Given the description of an element on the screen output the (x, y) to click on. 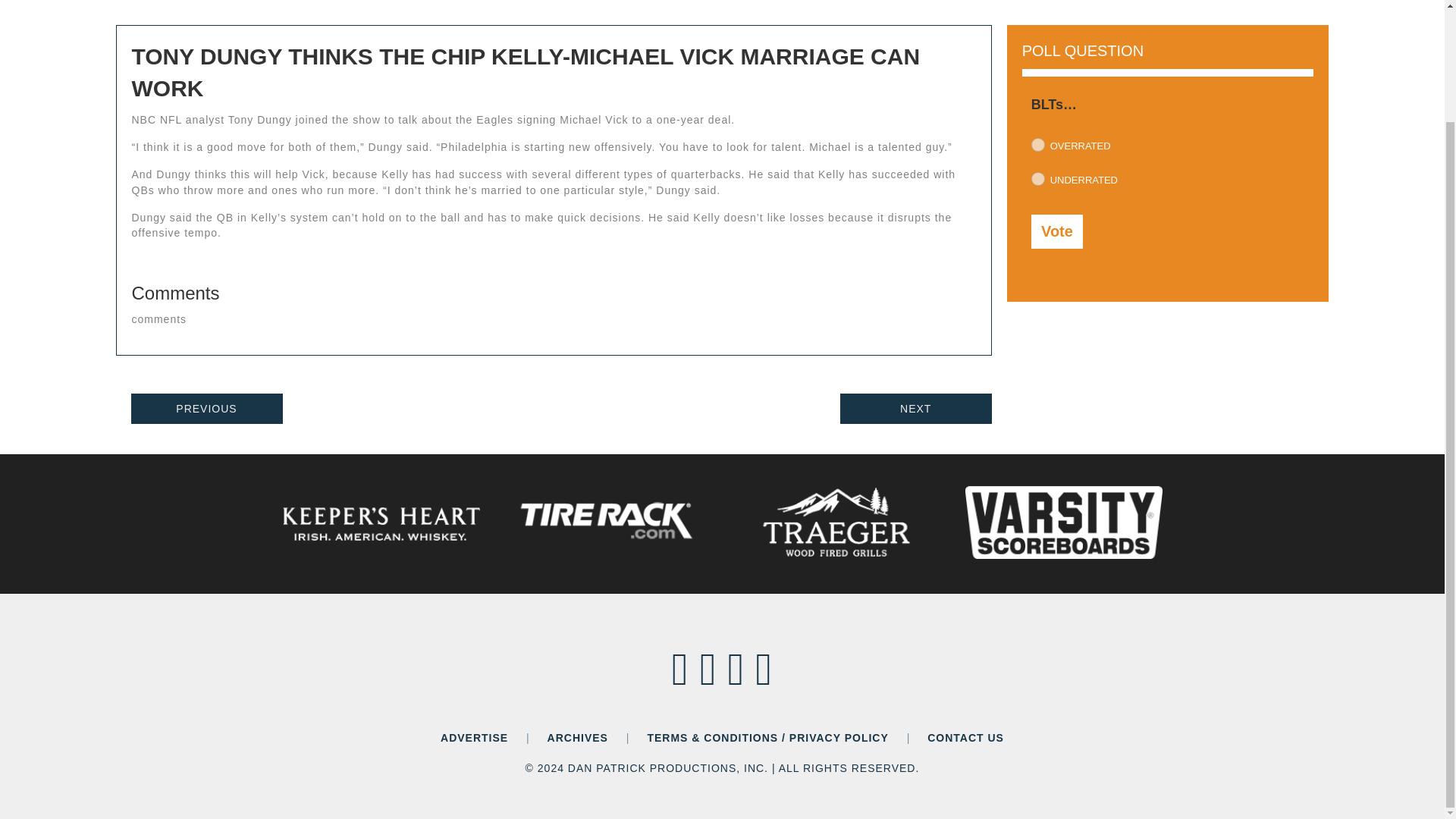
NEXT (915, 408)
63177633 (1037, 144)
PREVIOUS (206, 408)
ARCHIVES (577, 737)
Keepers-heart-Logo-400a (380, 523)
ADVERTISE (474, 737)
TireRackCom.whitegrey-250 (607, 521)
Varsity-logo (1062, 521)
63177634 (1037, 178)
Vote (1056, 231)
